Given the description of an element on the screen output the (x, y) to click on. 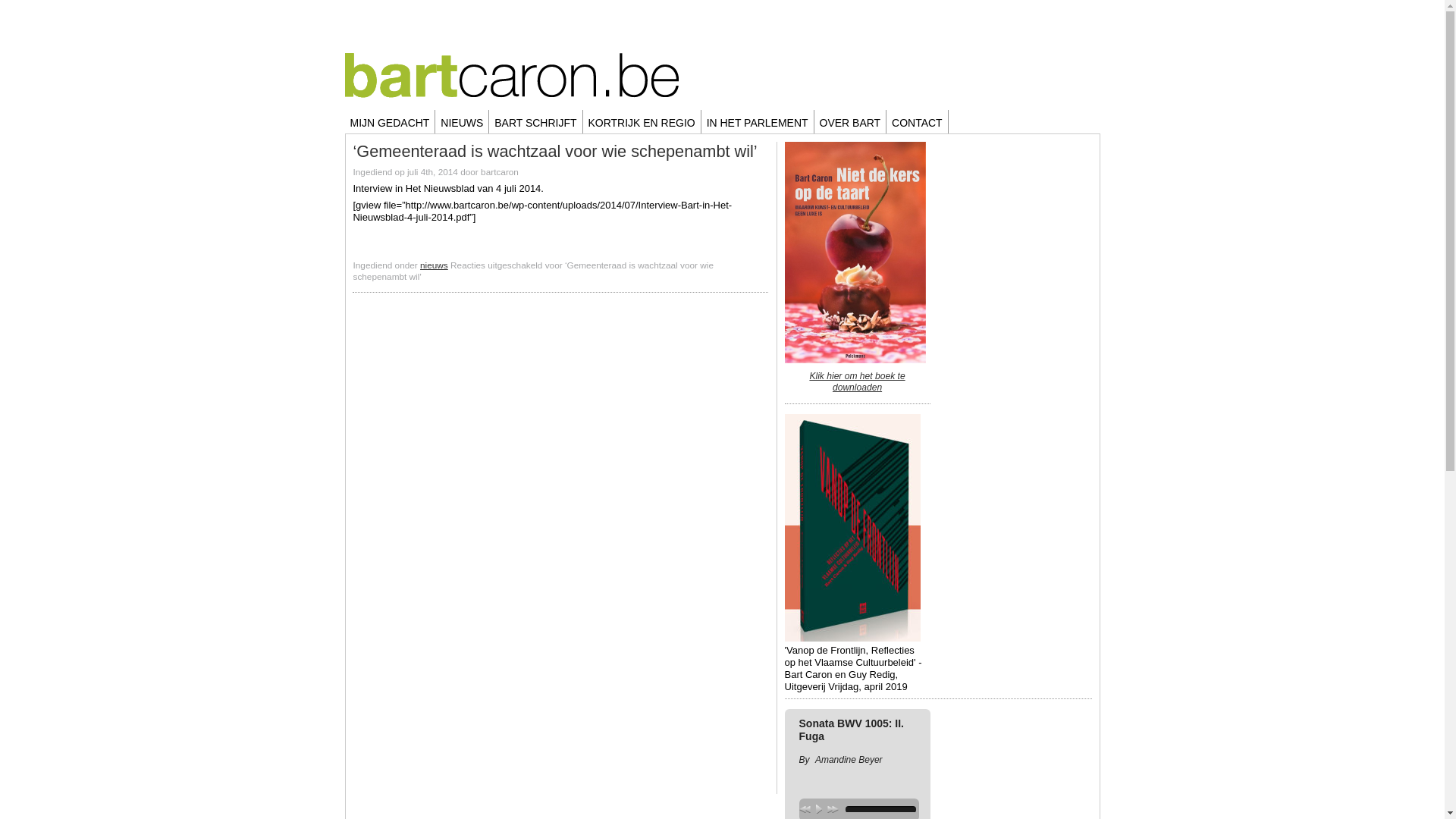
bartcaron.be Element type: text (511, 64)
IN HET PARLEMENT Element type: text (757, 121)
KORTRIJK EN REGIO Element type: text (642, 121)
NIEUWS Element type: text (462, 121)
MIJN GEDACHT Element type: text (389, 121)
Klik hier om het boek te downloaden Element type: text (856, 381)
CONTACT Element type: text (917, 121)
BART SCHRIJFT Element type: text (535, 121)
OVER BART Element type: text (850, 121)
nieuws Element type: text (434, 265)
